Given the description of an element on the screen output the (x, y) to click on. 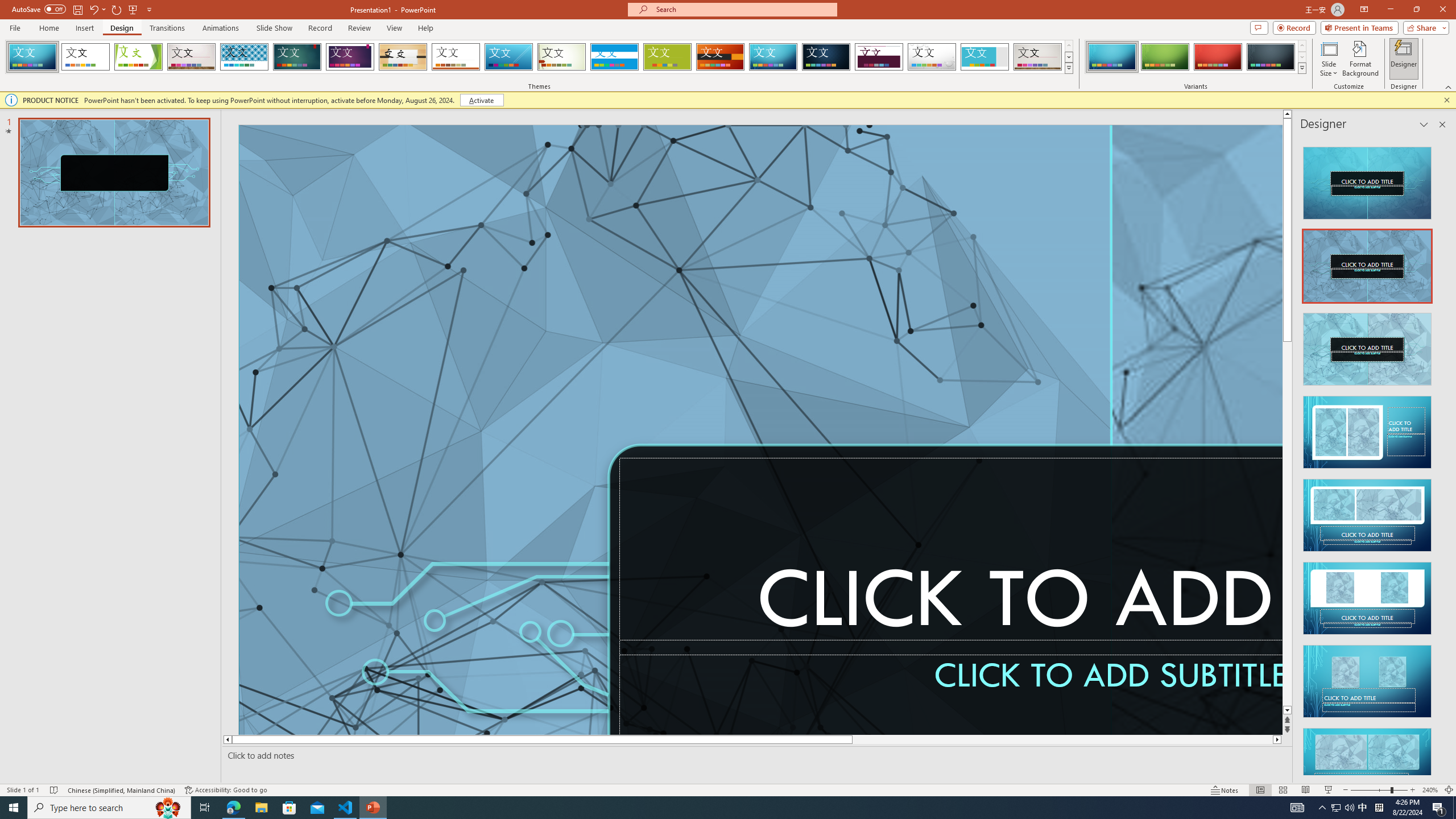
Decorative Locked (1110, 286)
Zoom 240% (1430, 790)
